Given the description of an element on the screen output the (x, y) to click on. 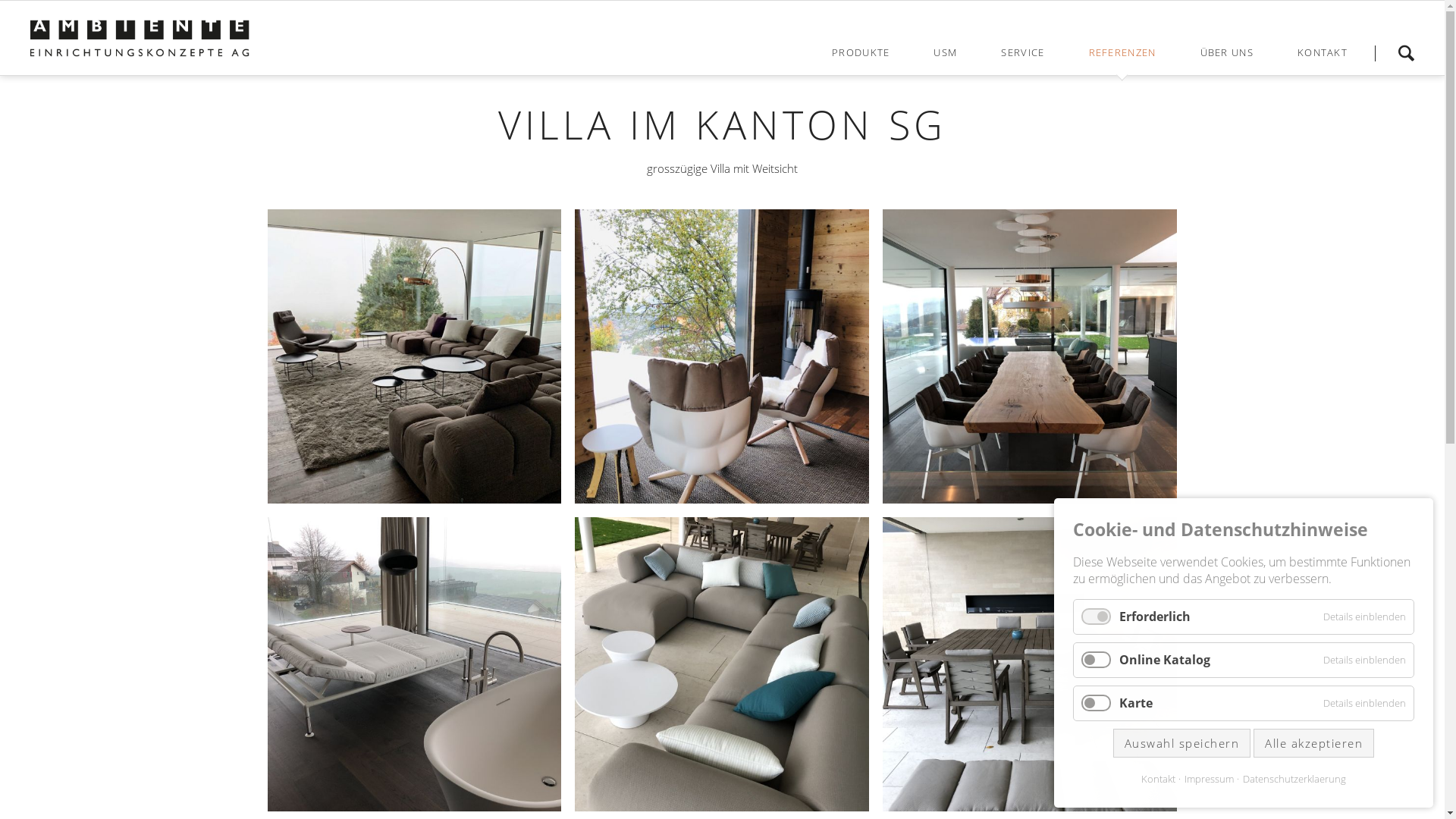
Alle akzeptieren Element type: text (1313, 742)
Details einblenden Element type: text (1364, 660)
KONTAKT Element type: text (1322, 52)
PRODUKTE Element type: text (860, 52)
Details einblenden Element type: text (1364, 616)
REFERENZEN Element type: text (1122, 52)
SERVICE Element type: text (1022, 52)
USM Element type: text (944, 52)
Kontakt Element type: text (1158, 779)
Auswahl speichern Element type: text (1182, 742)
suchen Element type: text (1405, 53)
Datenschutzerklaerung Element type: text (1291, 779)
Details einblenden Element type: text (1364, 703)
Impressum Element type: text (1205, 779)
